Given the description of an element on the screen output the (x, y) to click on. 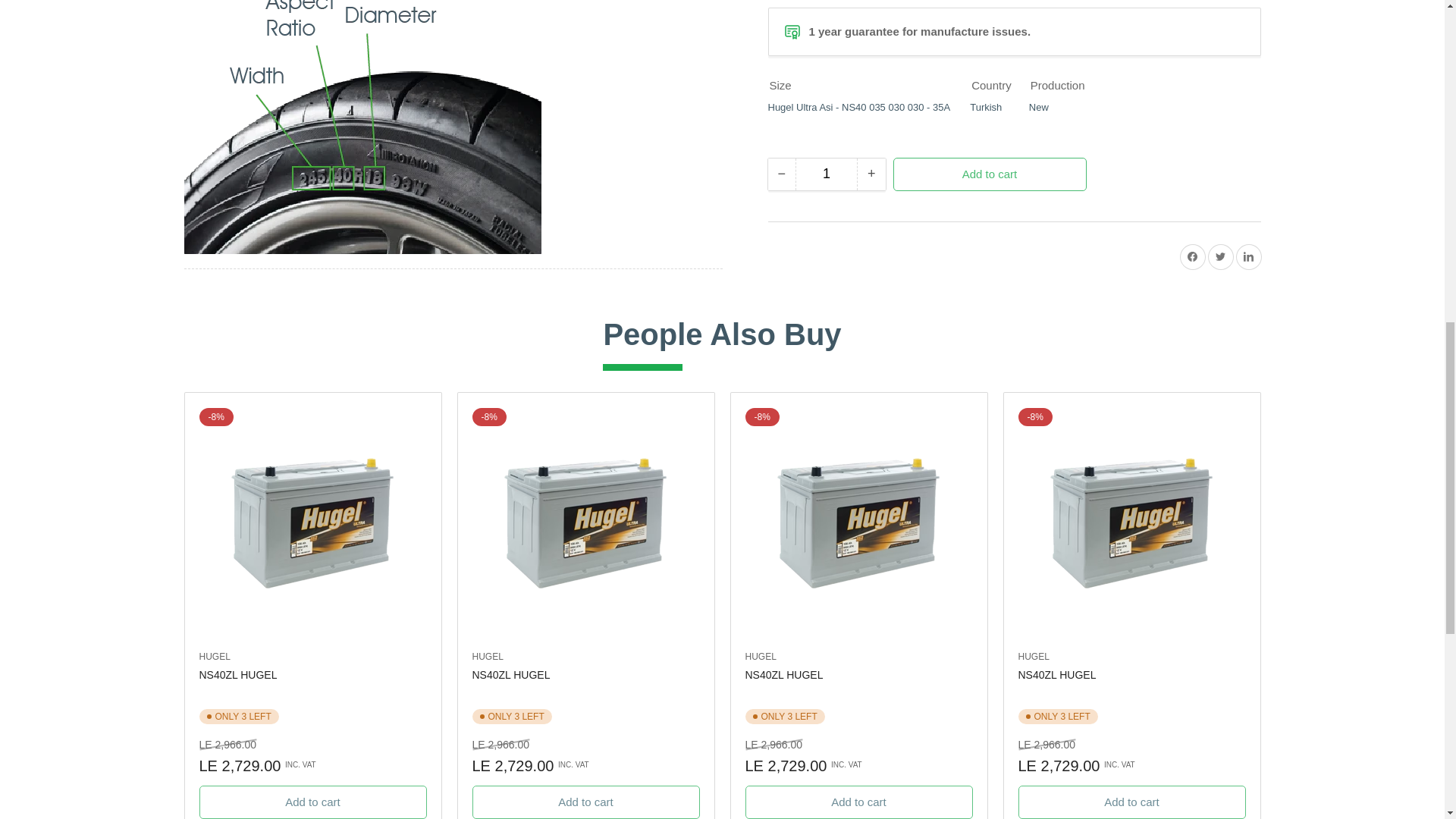
Hugel (1032, 656)
Hugel (214, 656)
Hugel (486, 656)
Hugel (760, 656)
